Given the description of an element on the screen output the (x, y) to click on. 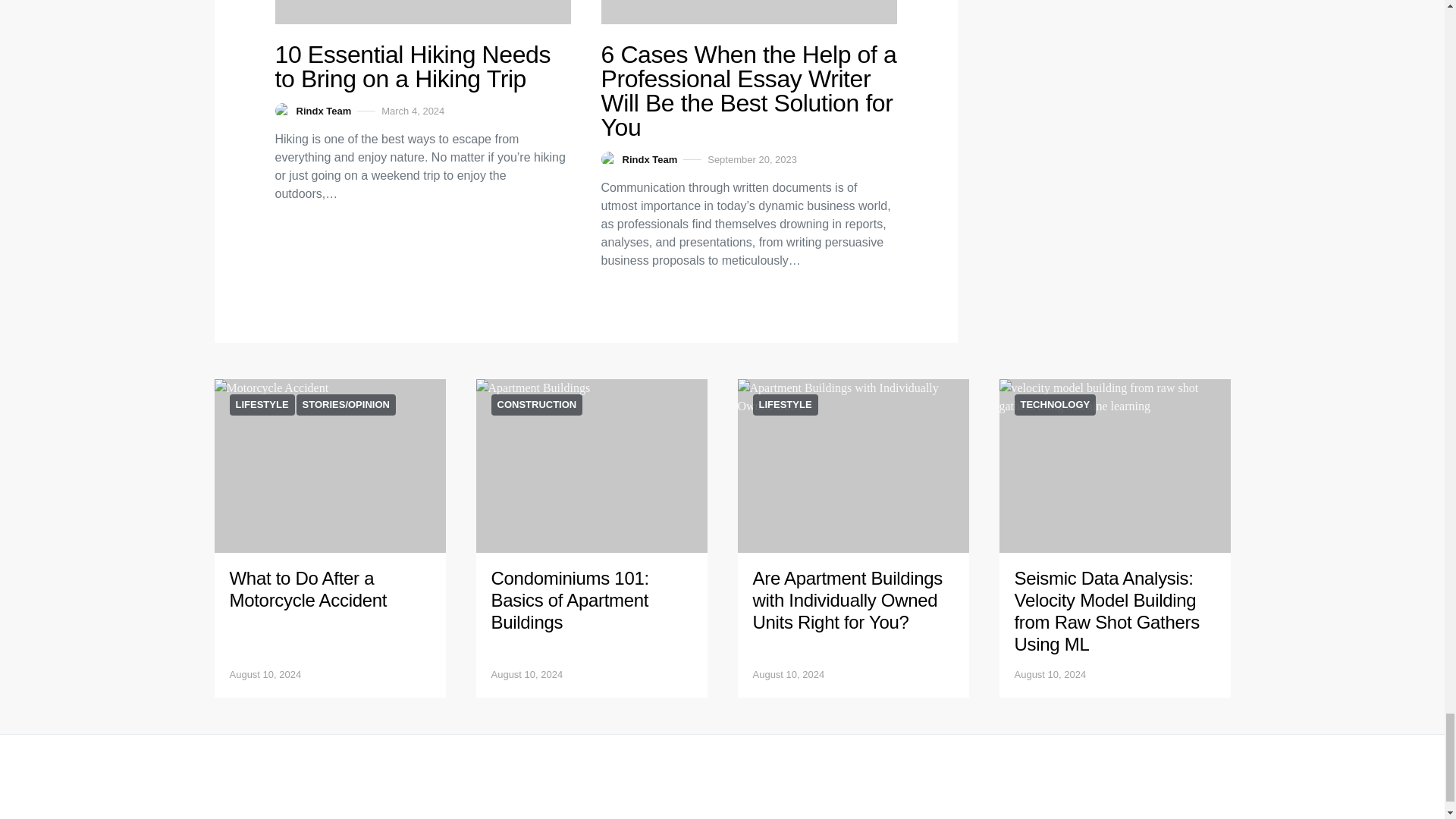
My Free Mp3 (747, 12)
View all posts by Rindx Team (312, 110)
My Free Mp3 (422, 12)
What to Do After a Motorcycle Accident (307, 589)
My Free Mp3 (329, 465)
View all posts by Rindx Team (638, 159)
